Given the description of an element on the screen output the (x, y) to click on. 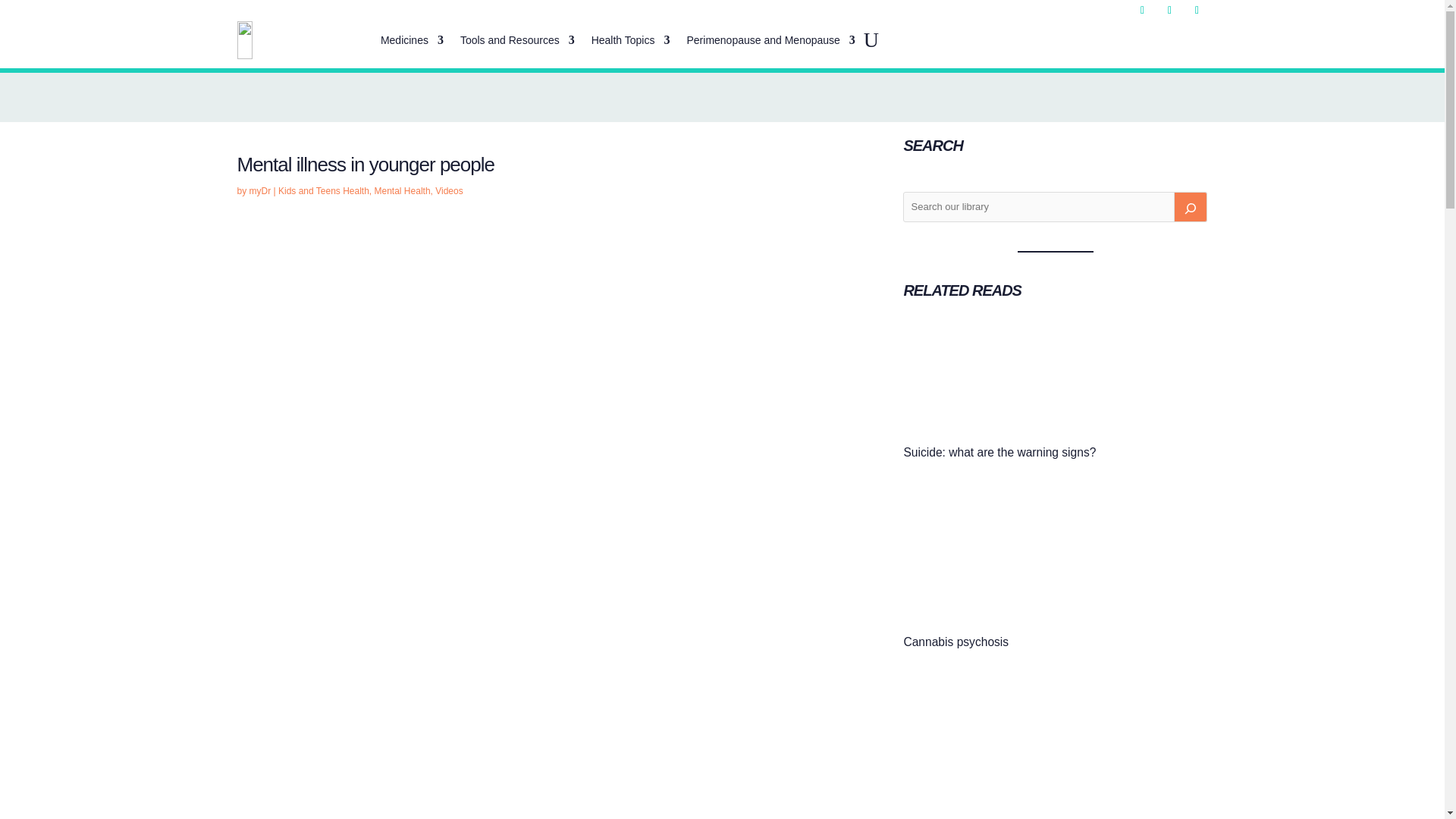
Medicines (412, 39)
Follow on TikTok (1196, 10)
Health Topics (630, 39)
Perimenopause and Menopause (769, 39)
Follow on Facebook (1142, 10)
Follow on Instagram (1168, 10)
Tools and Resources (517, 39)
Posts by myDr (259, 190)
